Given the description of an element on the screen output the (x, y) to click on. 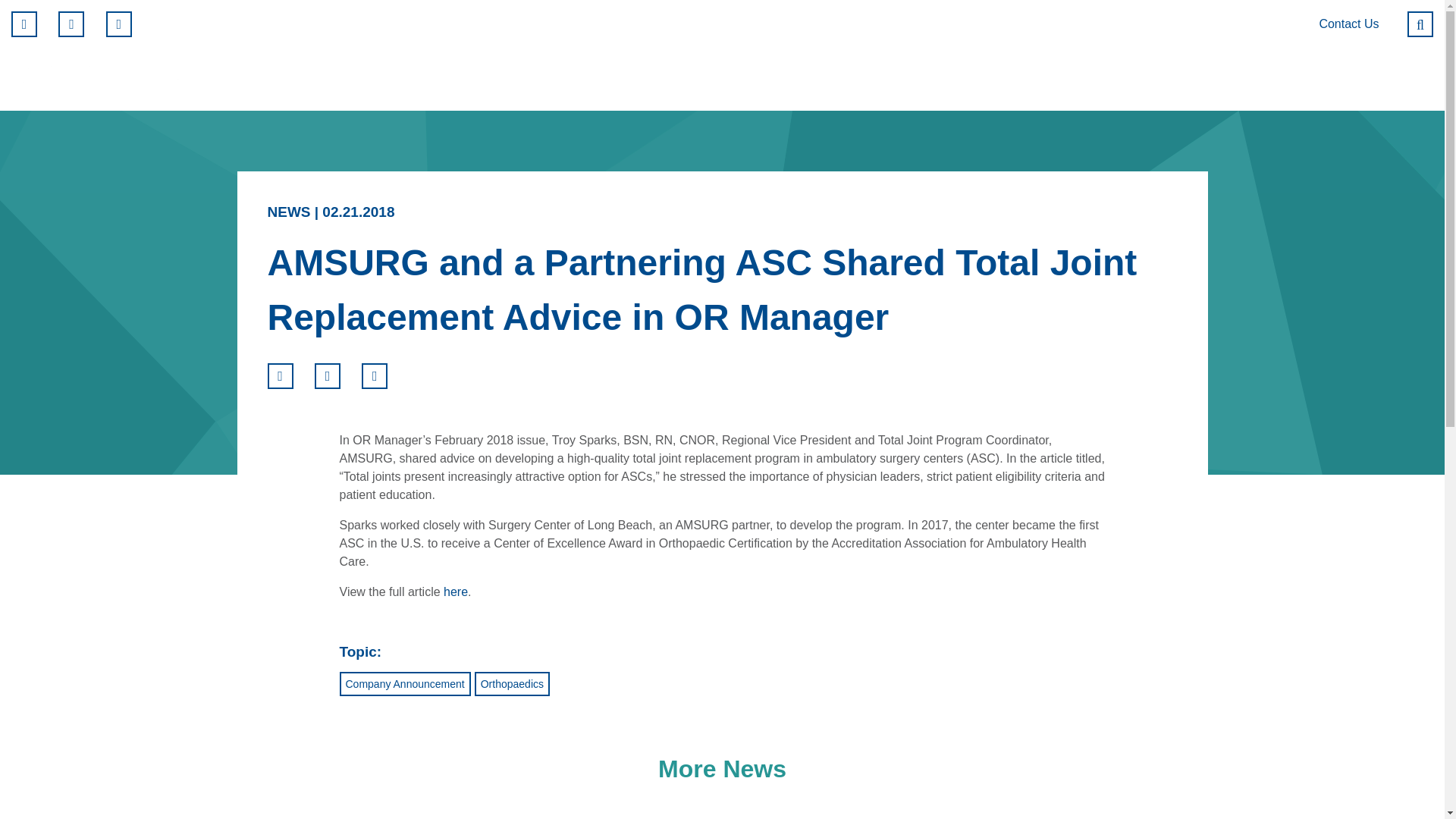
Resources (1234, 79)
Orthopaedics (512, 683)
linkedIn (119, 23)
Company Announcement (404, 683)
Facebook (24, 23)
linkedIn (374, 375)
X (71, 23)
Facebook (279, 375)
here (455, 591)
X (327, 375)
About AMSURG (1070, 79)
Contact Us (1348, 24)
AMSURG Advantage (878, 79)
